Given the description of an element on the screen output the (x, y) to click on. 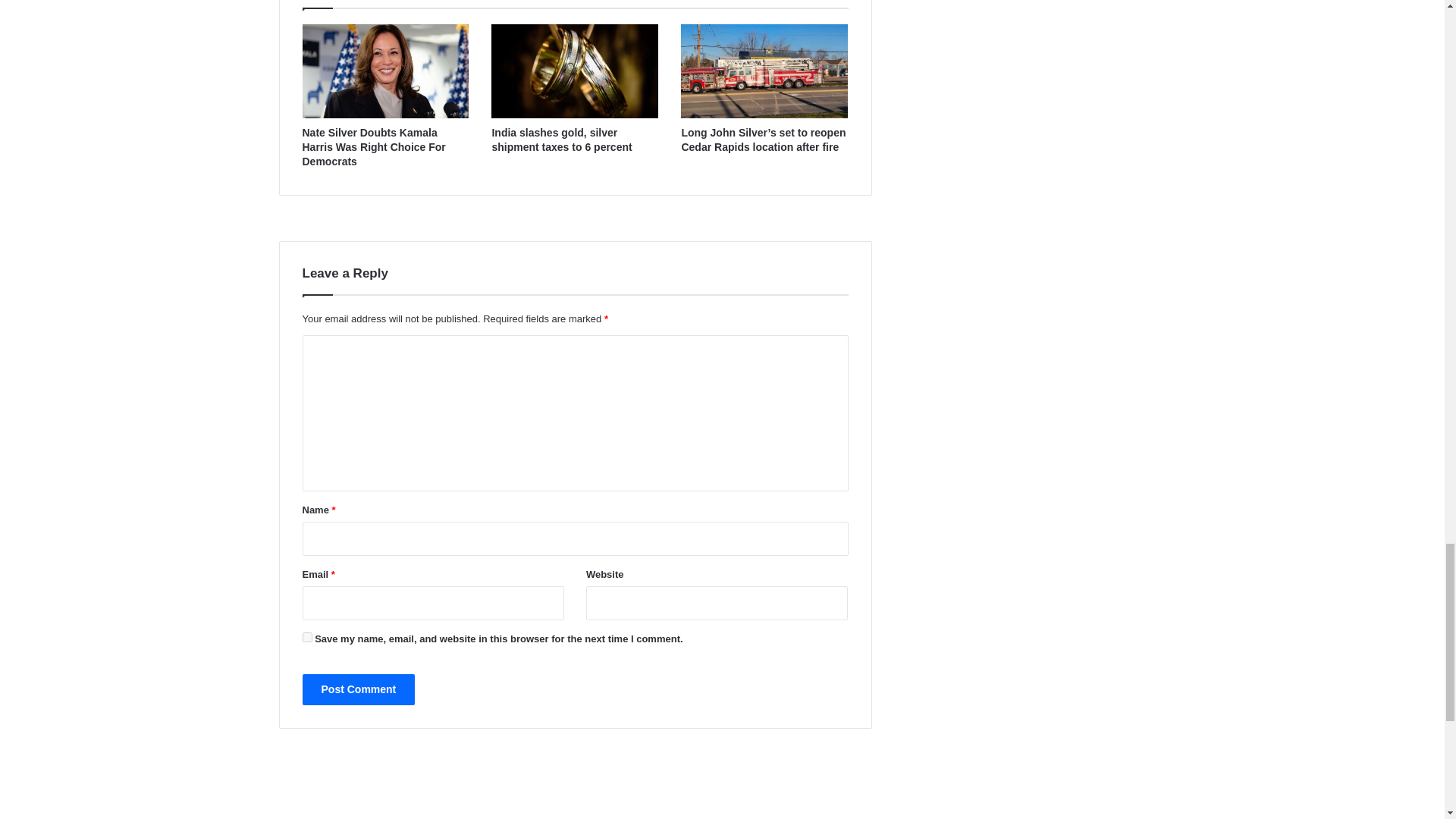
Post Comment (357, 689)
yes (306, 637)
